Given the description of an element on the screen output the (x, y) to click on. 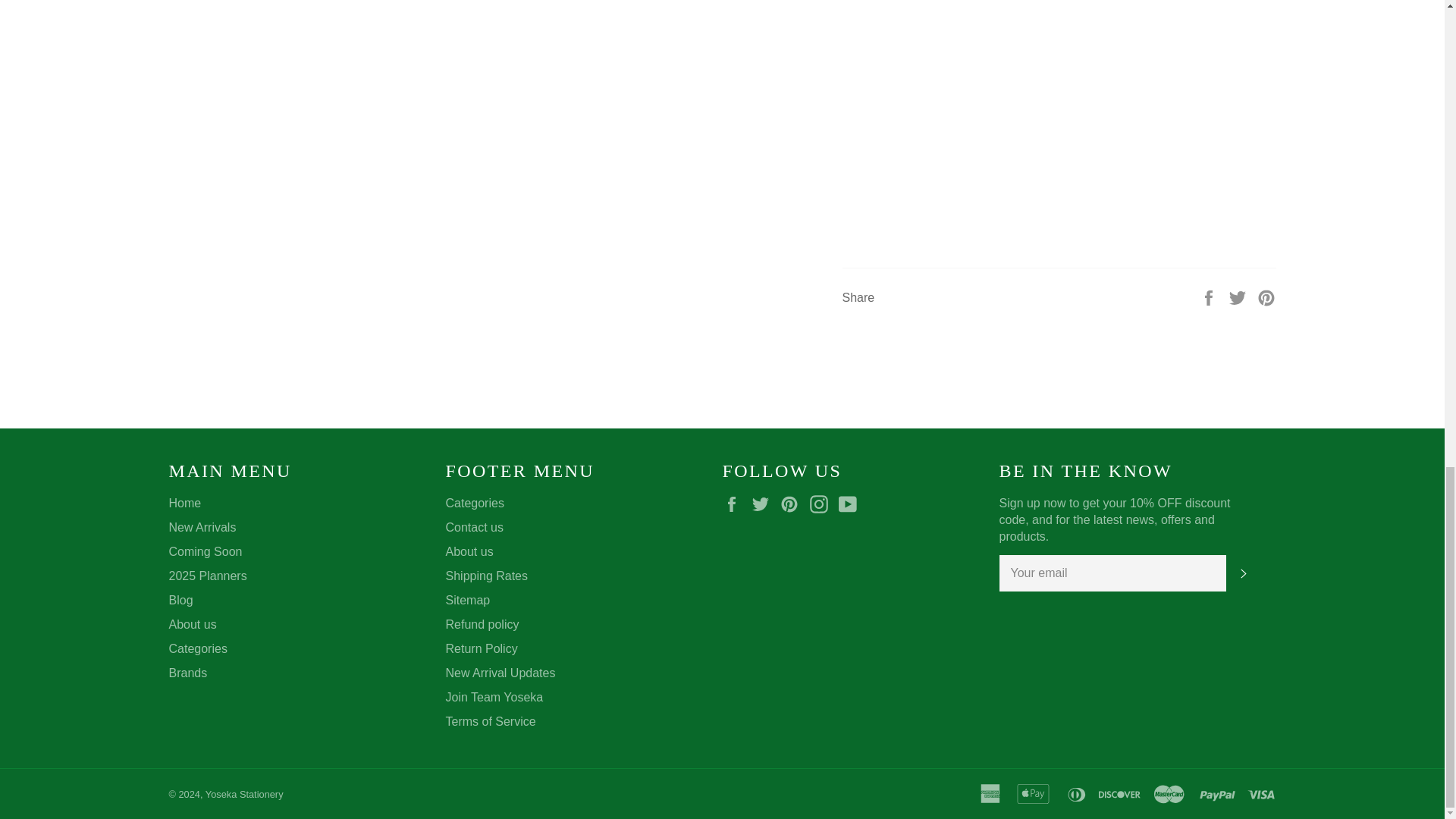
Pin on Pinterest (1266, 297)
Yoseka Stationery on YouTube (851, 504)
Yoseka Stationery on Pinterest (793, 504)
Yoseka Stationery on Twitter (764, 504)
Tweet on Twitter (1238, 297)
Yoseka Stationery on Facebook (735, 504)
Share on Facebook (1210, 297)
Yoseka Stationery on Instagram (822, 504)
YouTube video player (1057, 113)
